Given the description of an element on the screen output the (x, y) to click on. 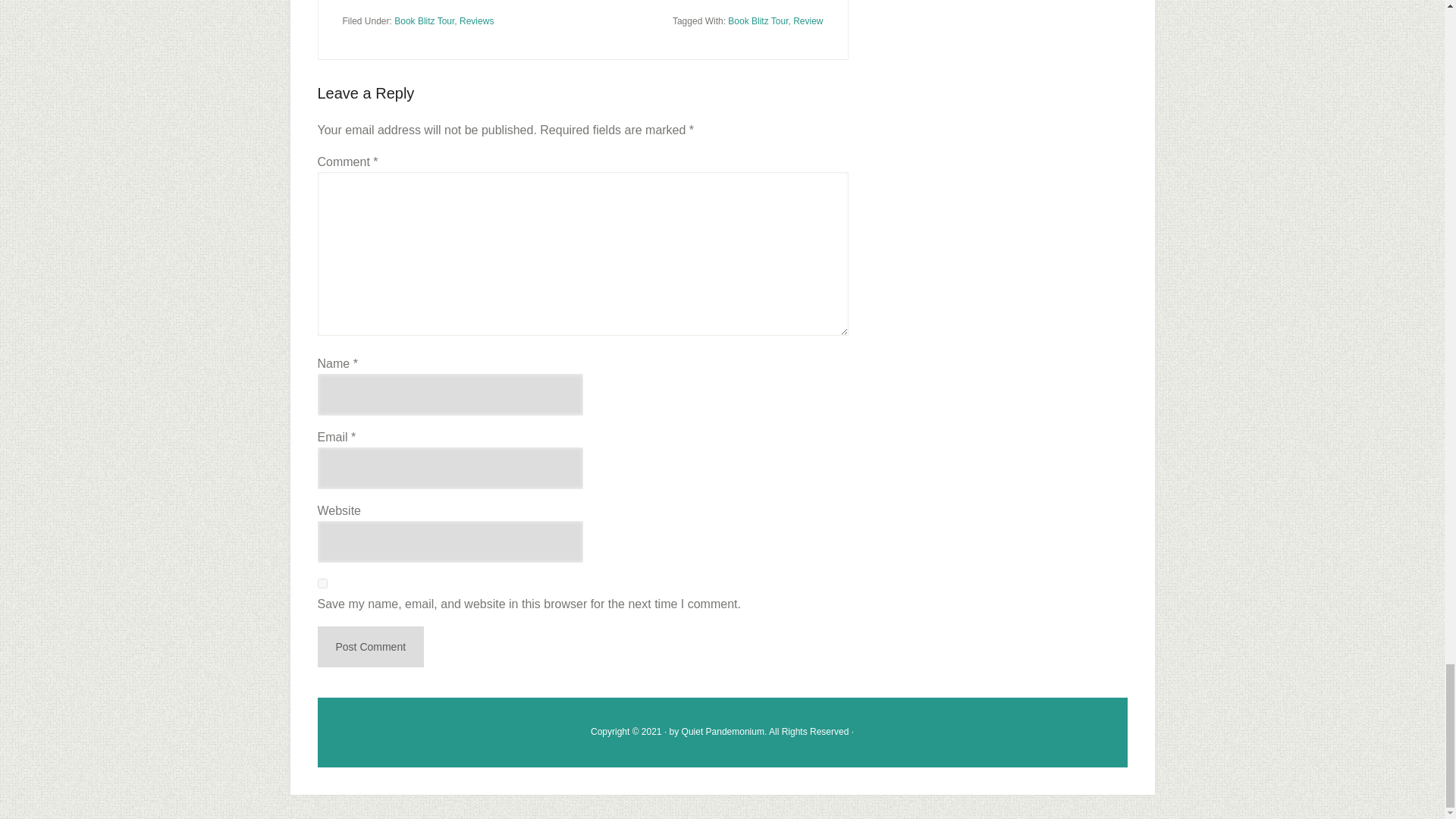
Book Blitz Tour (424, 20)
Post Comment (370, 646)
Review (807, 20)
Book Blitz Tour (757, 20)
yes (321, 583)
Quiet Pandemonium. All Rights Reserved (764, 731)
Reviews (476, 20)
Post Comment (370, 646)
